Given the description of an element on the screen output the (x, y) to click on. 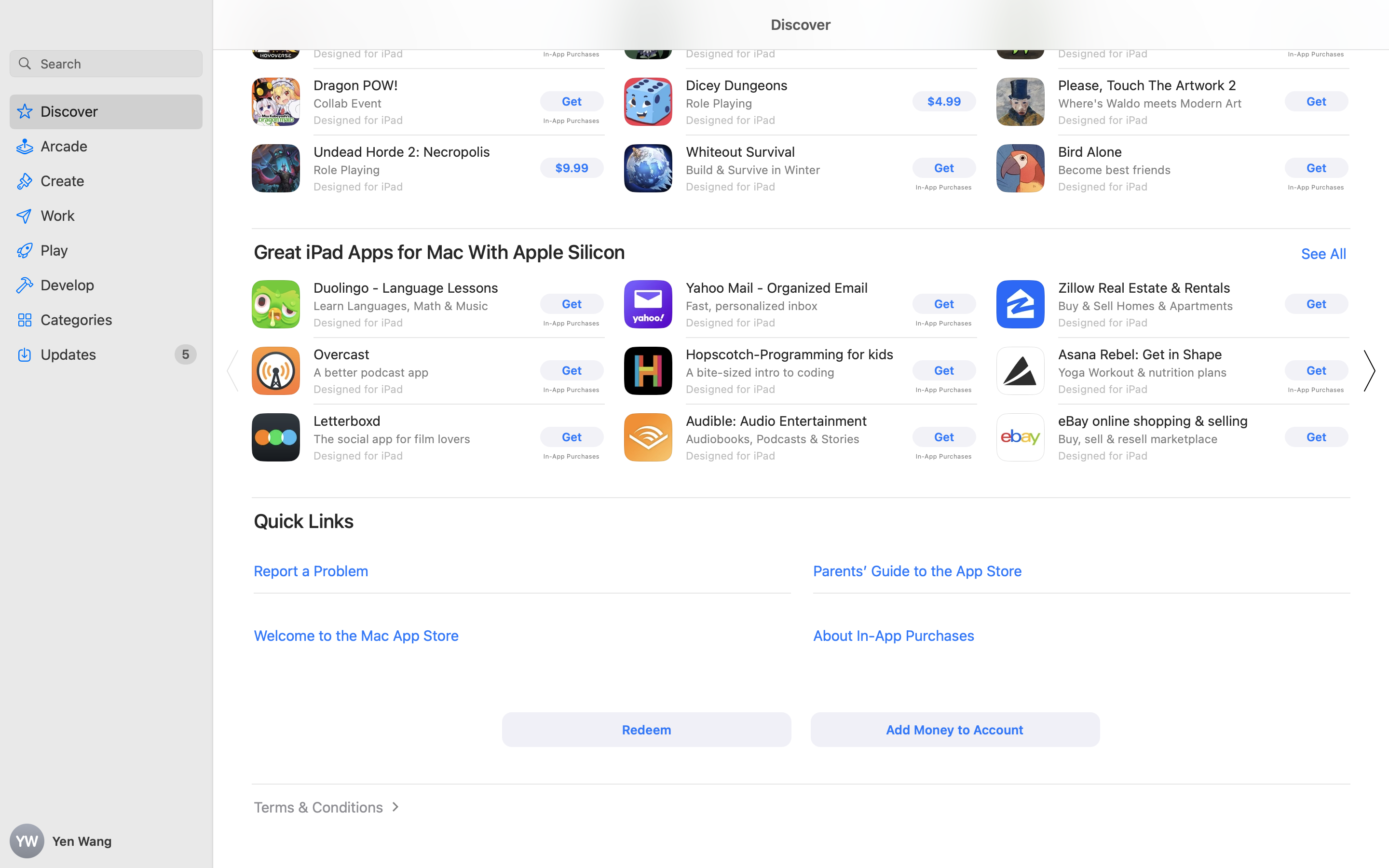
Yen Wang Element type: AXButton (106, 840)
Discover Element type: AXButton (800, 42)
Great iPad Apps for Mac With Apple Silicon Element type: AXStaticText (439, 251)
